Given the description of an element on the screen output the (x, y) to click on. 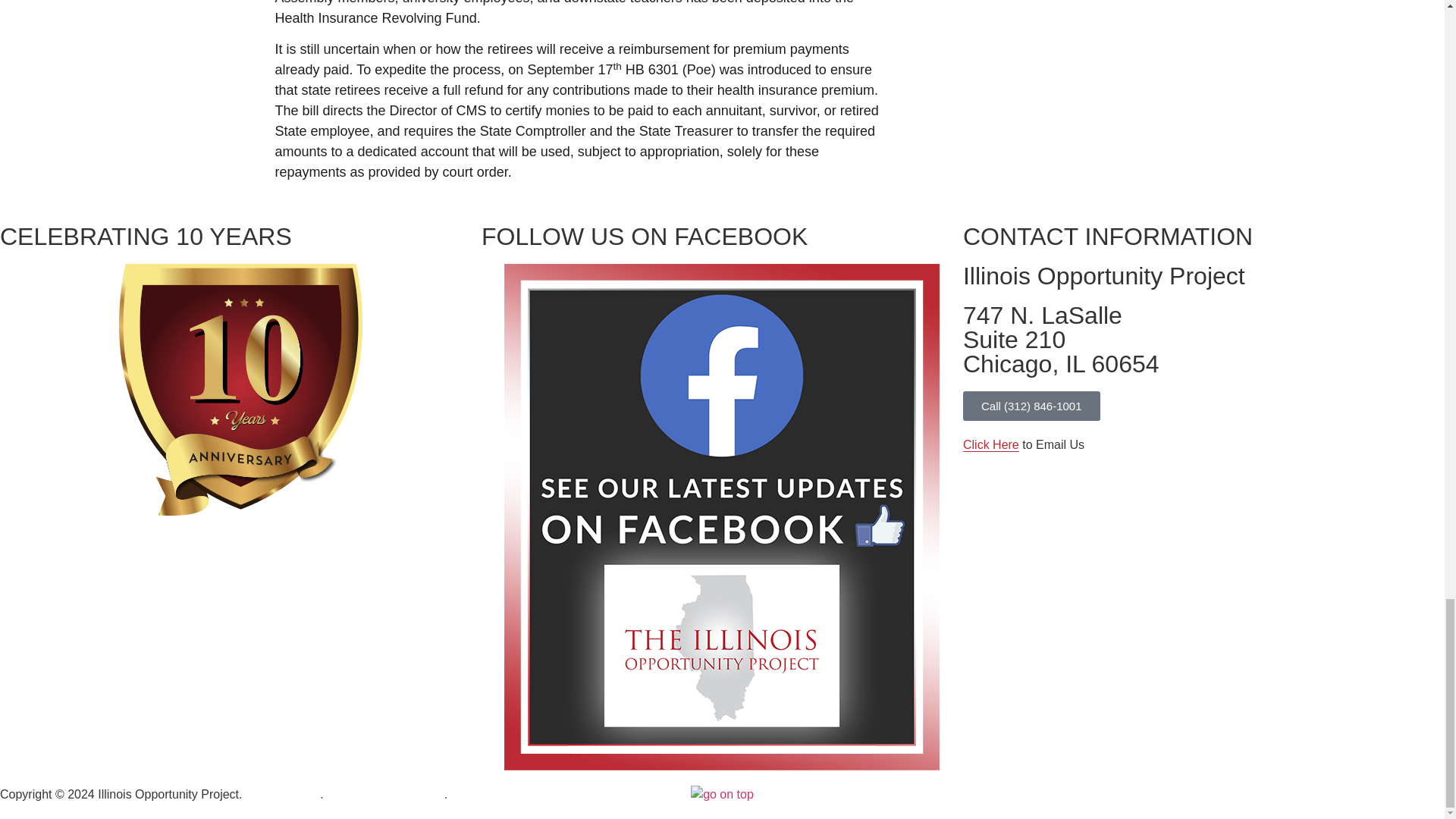
go on top (1060, 339)
Terms and Conditions (722, 794)
Privacy Policy (385, 793)
Click Here (283, 793)
